Given the description of an element on the screen output the (x, y) to click on. 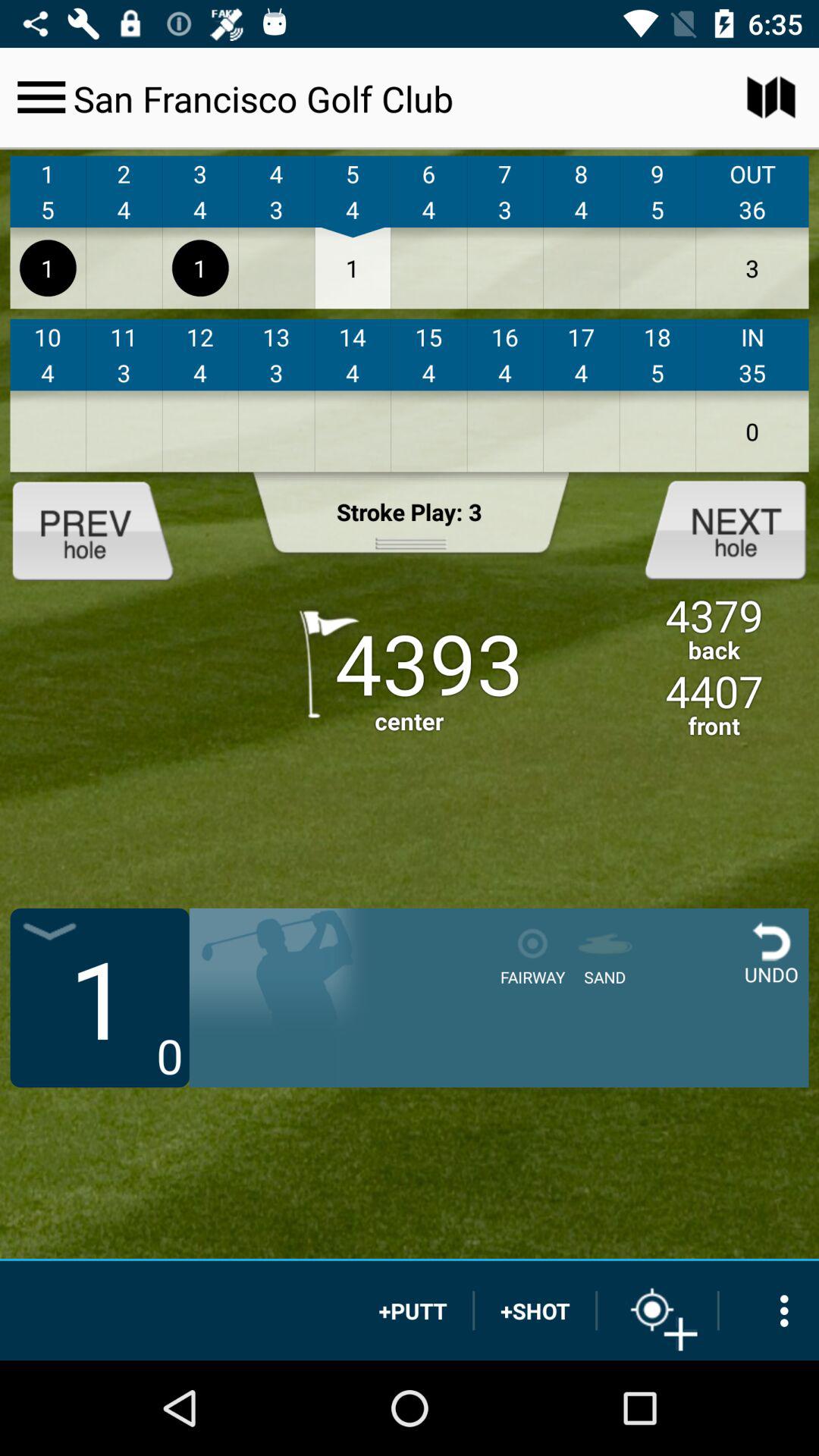
go to settings (41, 97)
